Given the description of an element on the screen output the (x, y) to click on. 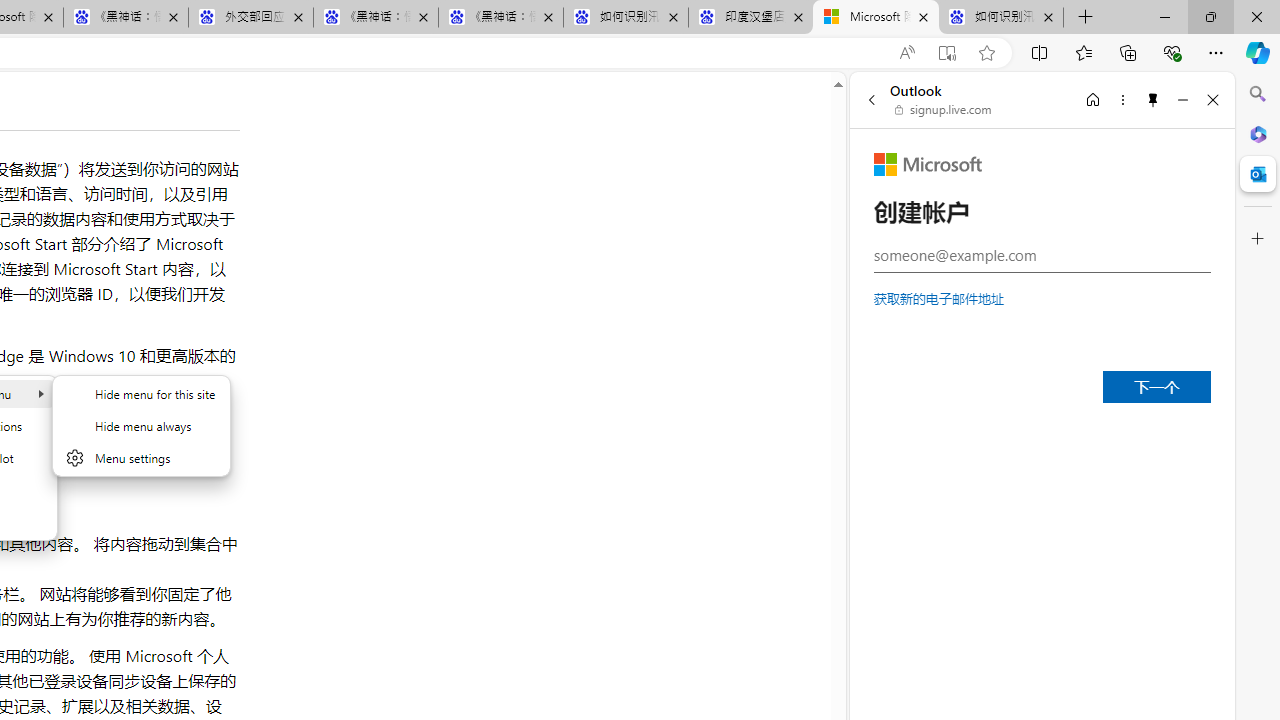
Hide menu for this site (141, 393)
